Given the description of an element on the screen output the (x, y) to click on. 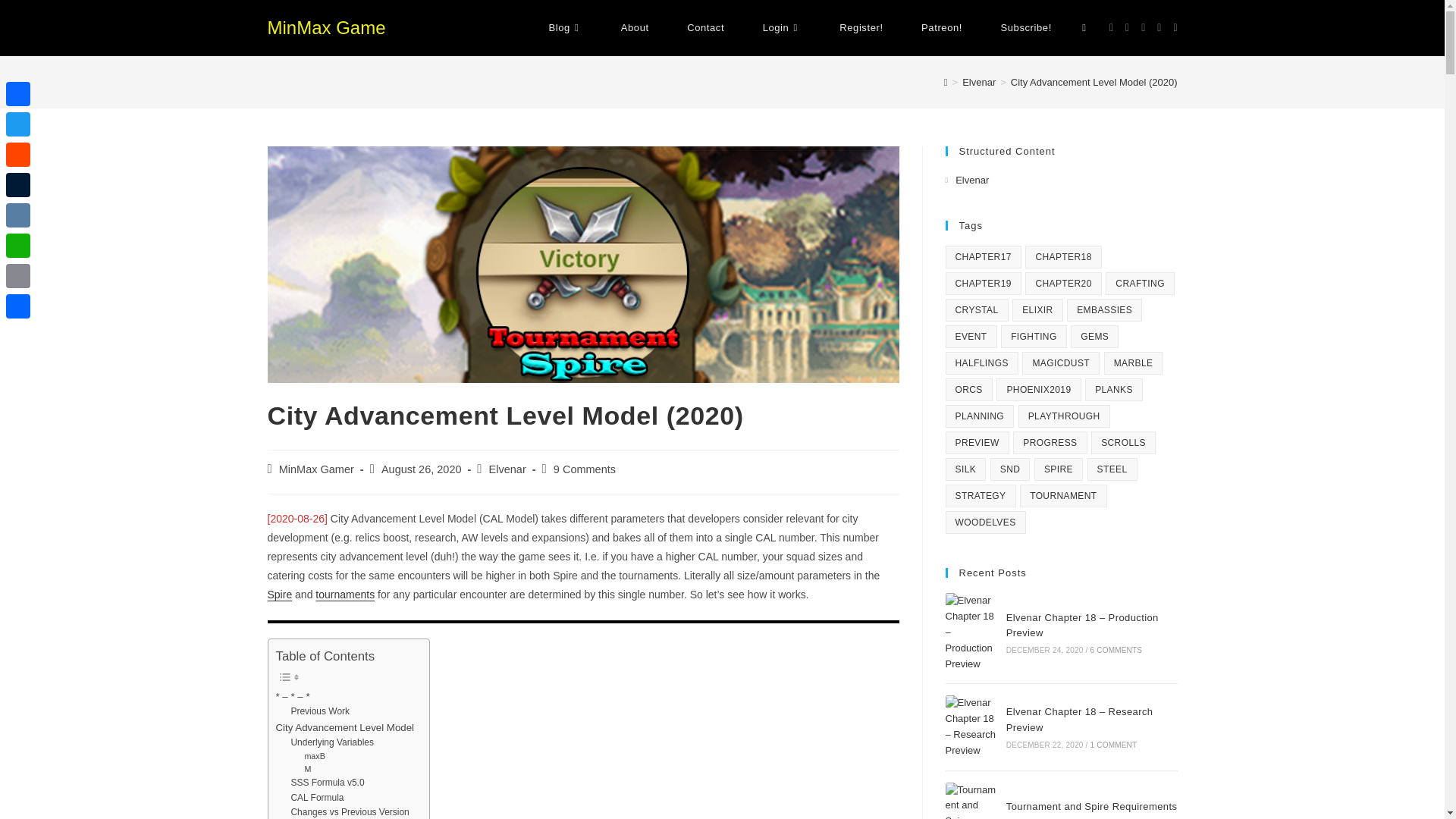
Blog (565, 28)
Contact (705, 28)
SSS Formula v5.0 (326, 782)
MinMax Game (325, 27)
Subscribe! (1025, 28)
Changes vs Previous Version (349, 812)
maxB (314, 756)
Underlying Variables (331, 742)
Previous Work (319, 711)
Register! (861, 28)
CAL Formula (316, 798)
Login (781, 28)
Posts by MinMax Gamer (316, 469)
City Advancement Level Model (345, 727)
Patreon! (941, 28)
